Given the description of an element on the screen output the (x, y) to click on. 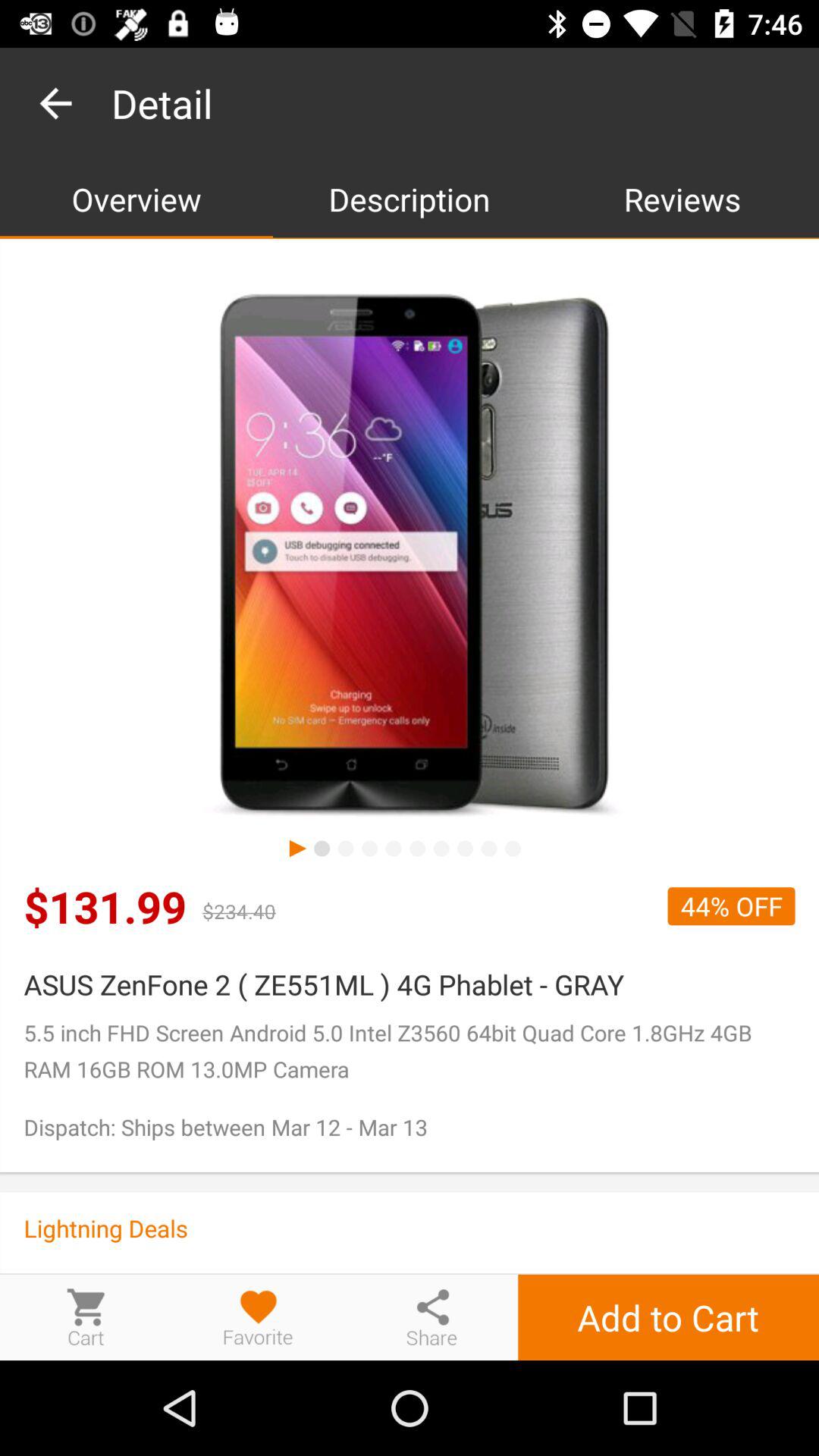
like/favorite (258, 1317)
